Given the description of an element on the screen output the (x, y) to click on. 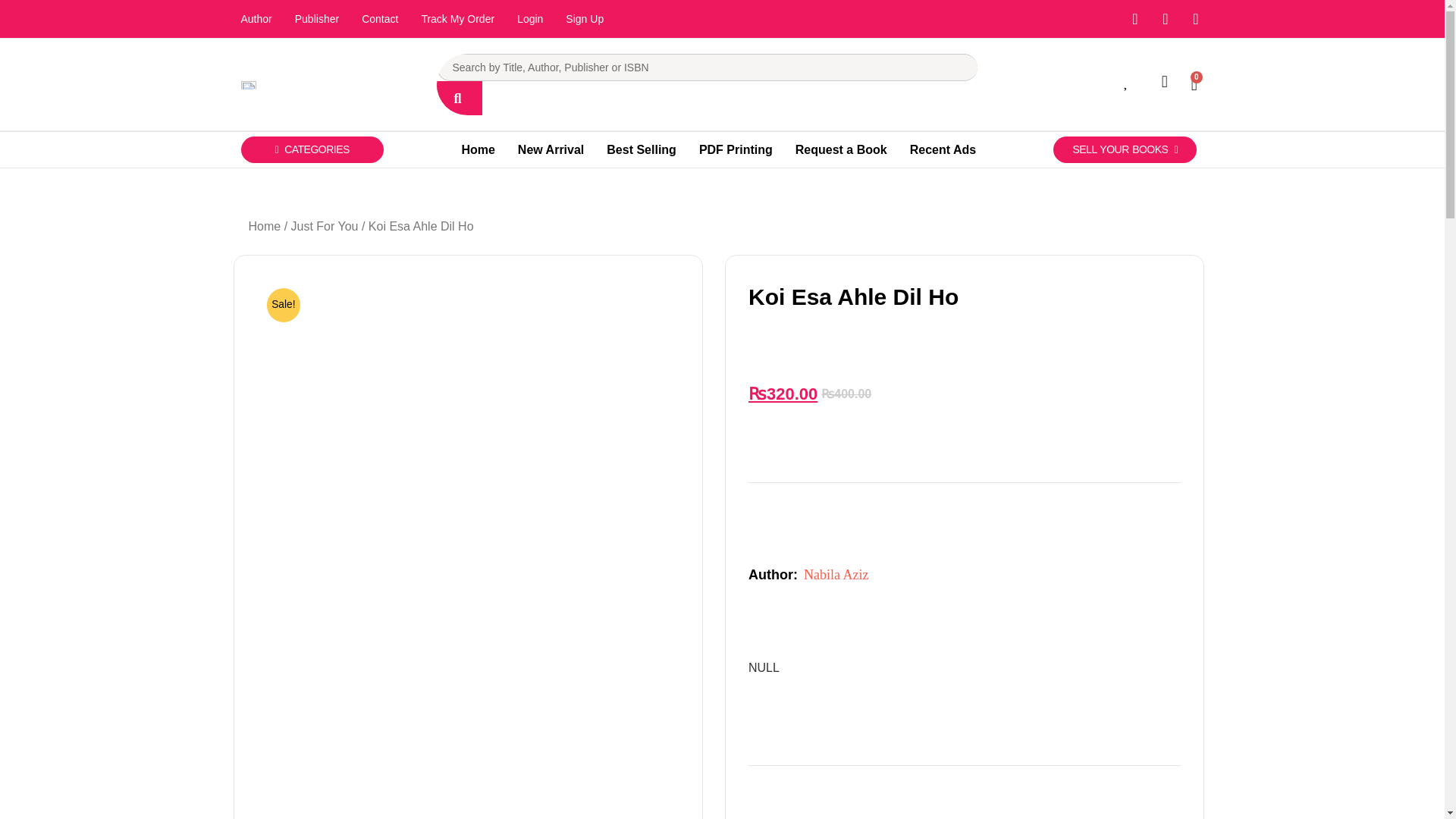
Home (477, 150)
New Arrival (550, 150)
Contact (379, 18)
Author (255, 18)
Track My Order (457, 18)
CATEGORIES (312, 149)
Login (529, 18)
Sign Up (584, 18)
Best Selling (641, 150)
Search Button (458, 98)
Publisher (316, 18)
